Given the description of an element on the screen output the (x, y) to click on. 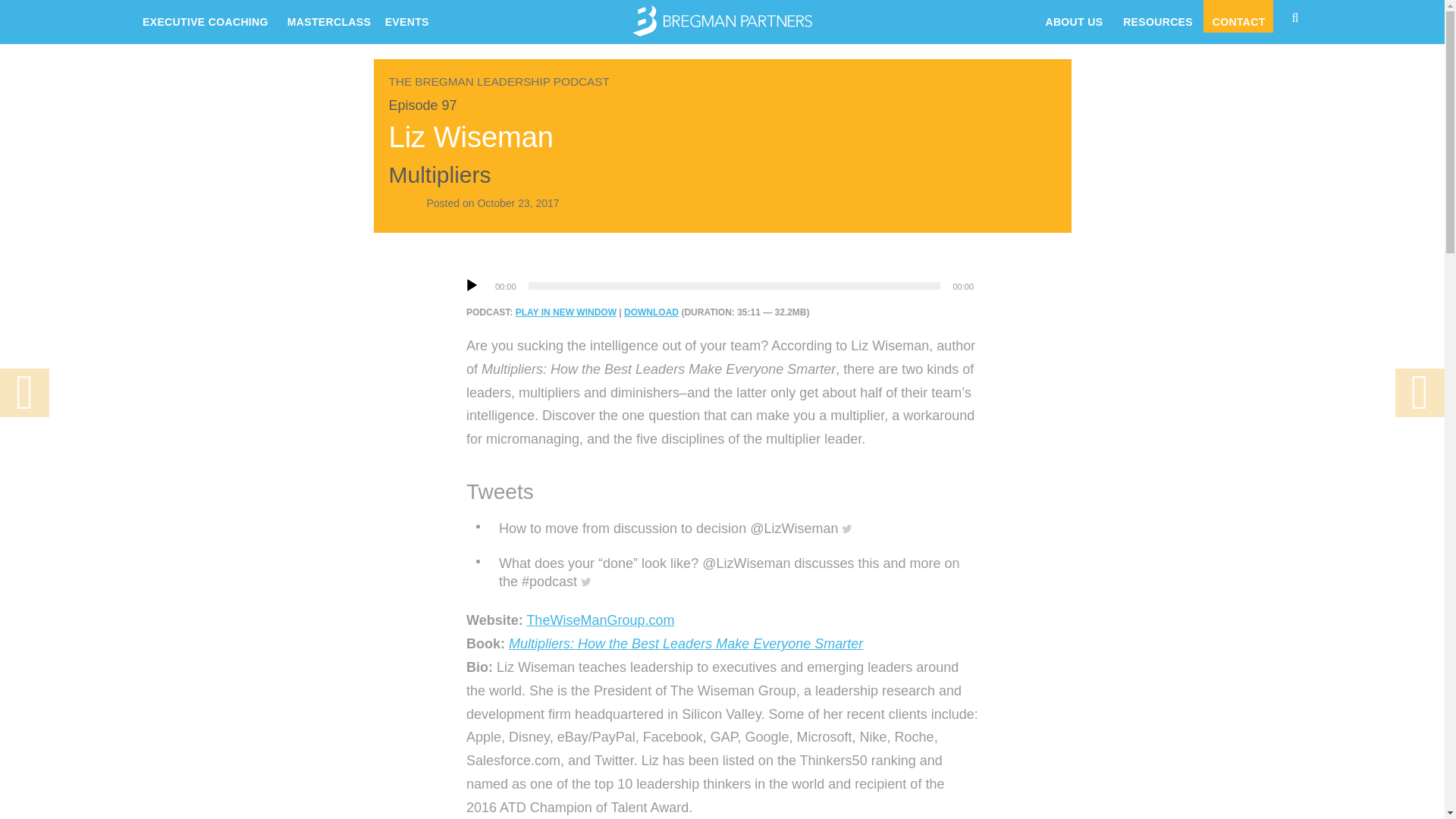
Tweet This! (735, 572)
RESOURCES (1155, 16)
October 23, 2017 (518, 203)
MASTERCLASS (326, 16)
EVENTS (406, 16)
CONTACT (1238, 16)
Play (472, 285)
TheWiseManGroup.com (599, 620)
EXECUTIVE COACHING (205, 16)
Play in new window (565, 312)
DOWNLOAD (651, 312)
Tweet This! (676, 528)
ABOUT US (1072, 16)
SEARCH (1302, 15)
Multipliers: How the Best Leaders Make Everyone Smarter (685, 643)
